Given the description of an element on the screen output the (x, y) to click on. 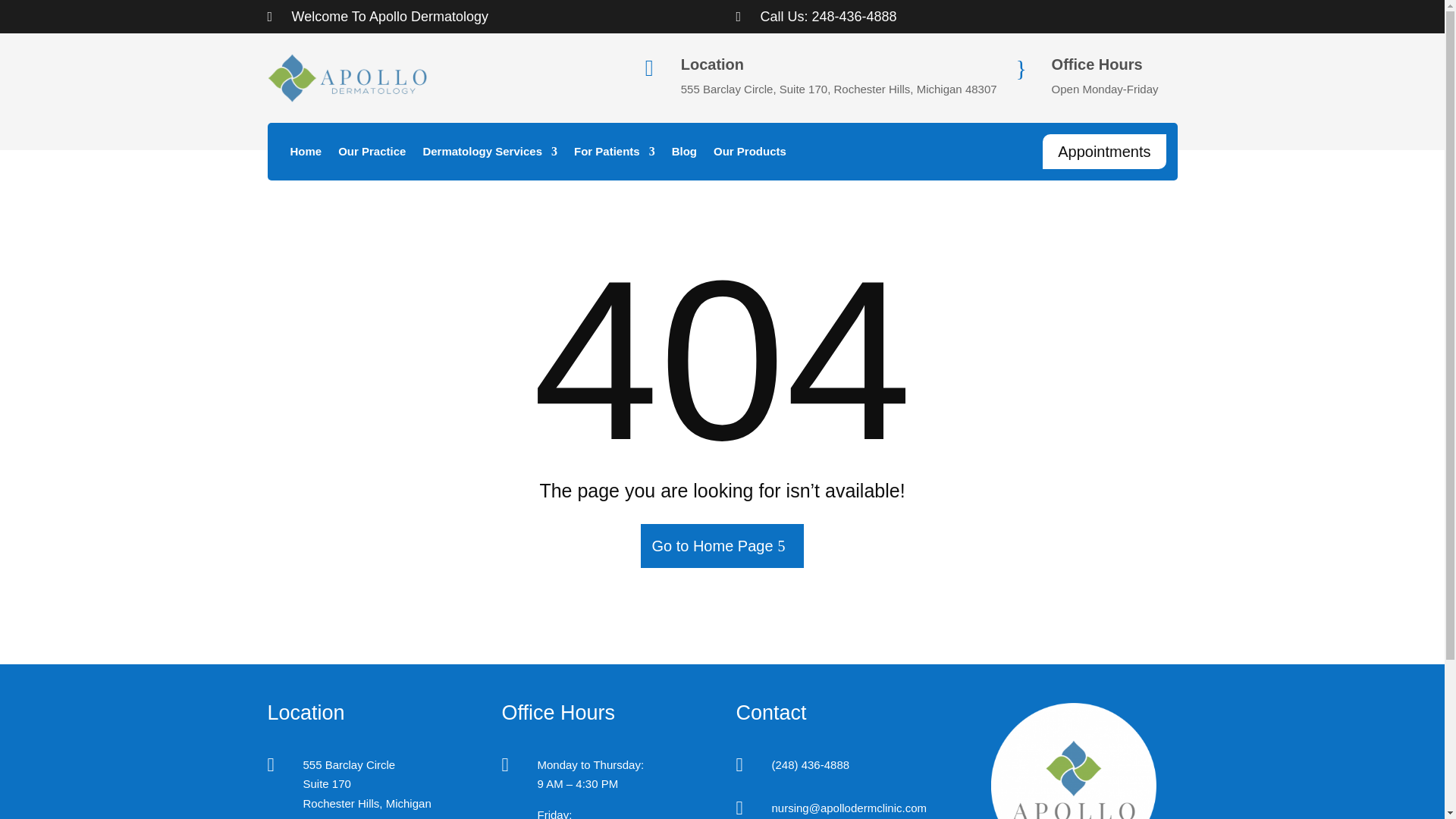
Home (305, 154)
Our Products (749, 154)
Appointments (1104, 151)
Our Practice (371, 154)
For Patients (614, 154)
APOLLO-logo-web-HOR (346, 78)
Blog (684, 154)
apollo-dermatology-circle-logo-300x300 (1073, 760)
Dermatology Services (489, 154)
